Given the description of an element on the screen output the (x, y) to click on. 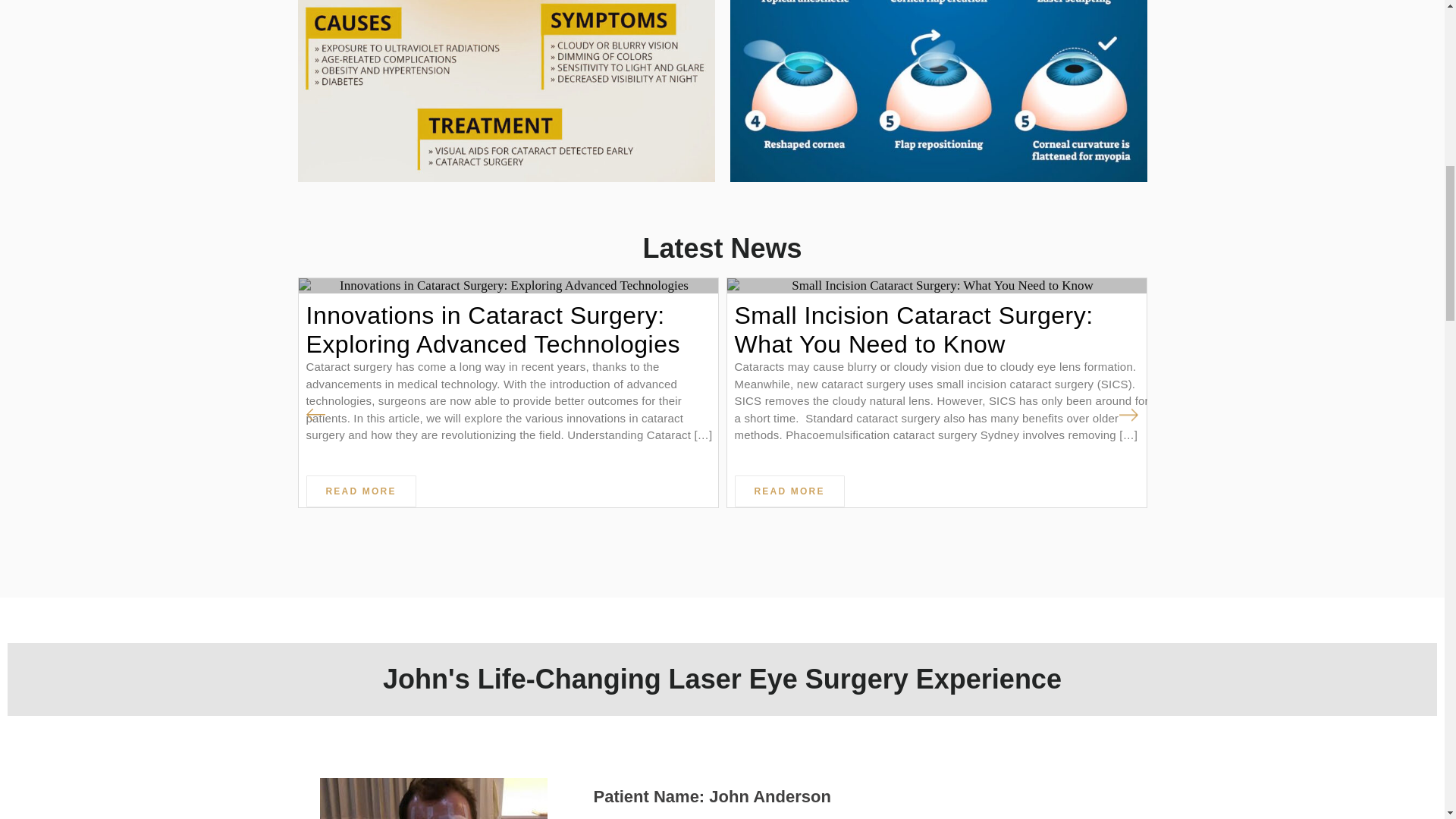
READ MORE (788, 490)
READ MORE (360, 490)
Small Incision Cataract Surgery: What You Need to Know (939, 329)
